Given the description of an element on the screen output the (x, y) to click on. 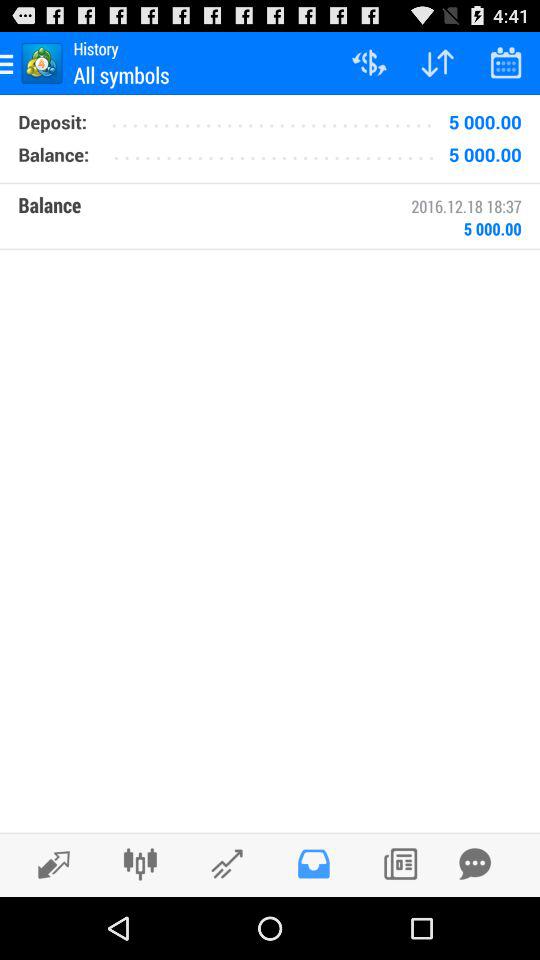
backup data (475, 864)
